Given the description of an element on the screen output the (x, y) to click on. 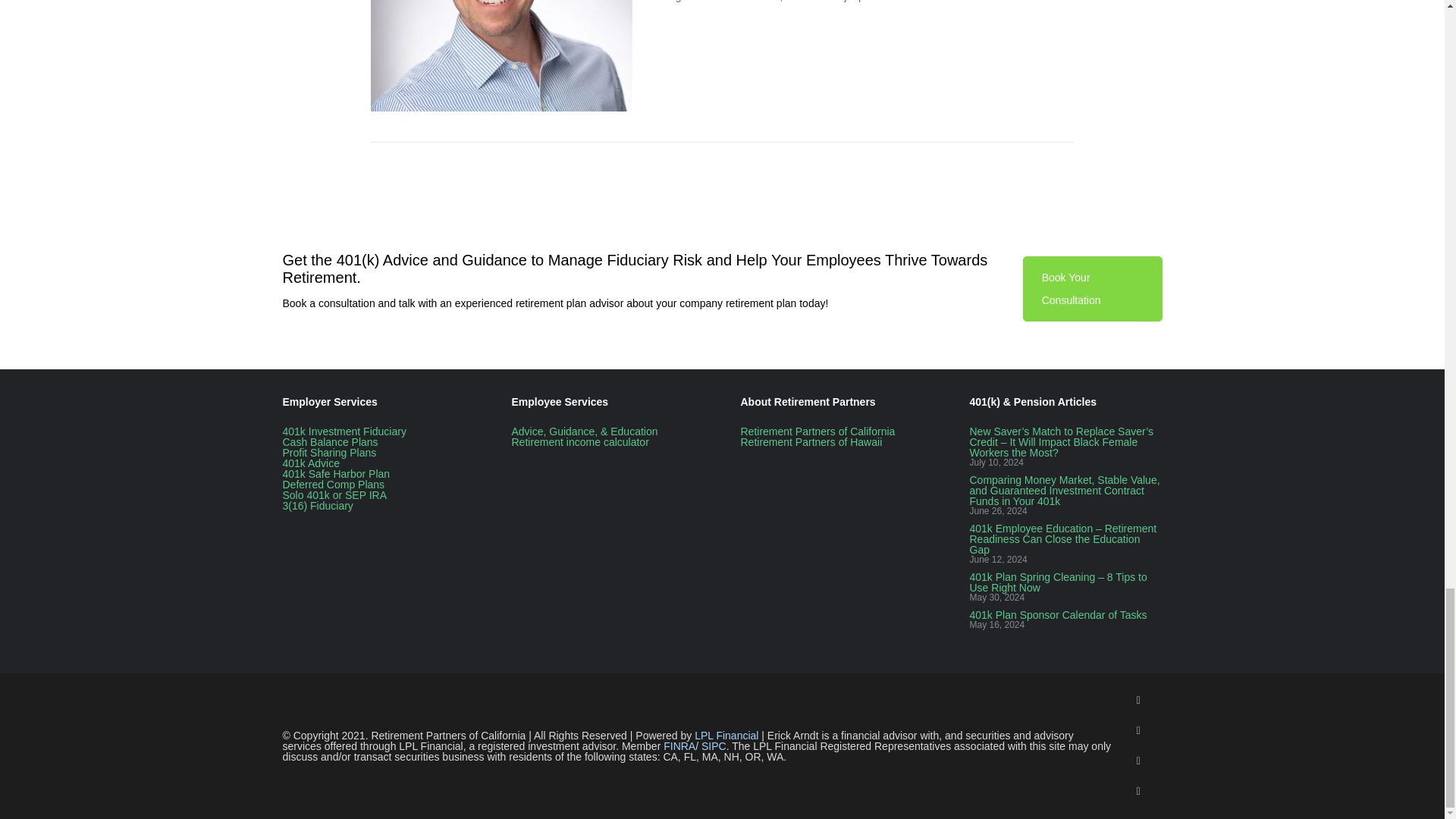
How we make your 401k great! (310, 462)
401k Advisors in Los Angeles (817, 430)
When your 401k is failing annual testing (333, 483)
Increase tax deductions for your business (329, 440)
